Given the description of an element on the screen output the (x, y) to click on. 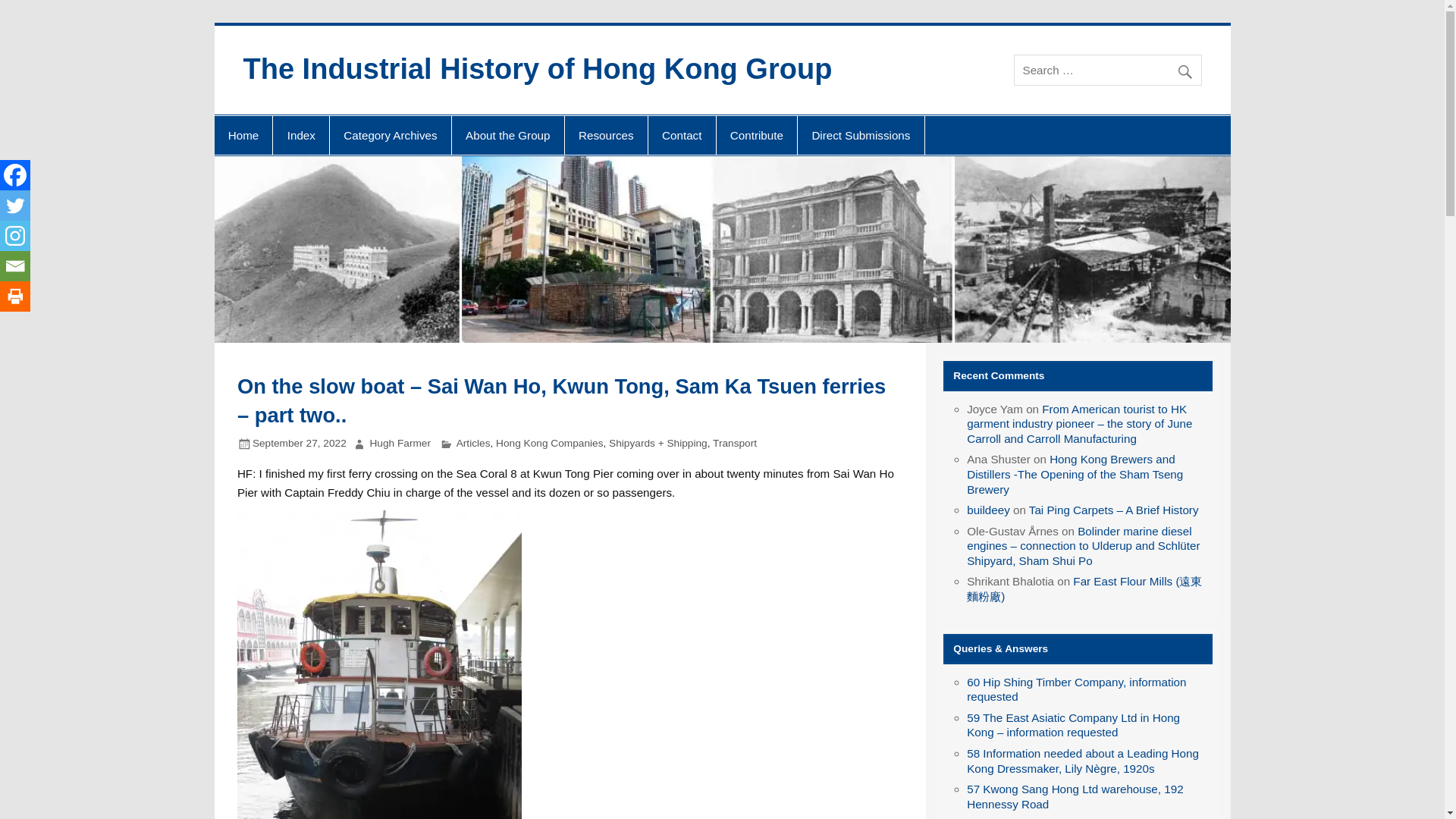
Resources (605, 135)
57 Kwong Sang Hong Ltd warehouse, 192 Hennessy Road (1074, 796)
Direct Submissions (860, 135)
Print (15, 296)
12:15 am (298, 442)
Index (301, 135)
Instagram (15, 235)
Hong Kong Companies (549, 442)
Hugh Farmer (399, 442)
Facebook (15, 174)
Twitter (15, 205)
About the Group (507, 135)
Category Archives (390, 135)
The Industrial History of Hong Kong Group (537, 69)
Articles (473, 442)
